Given the description of an element on the screen output the (x, y) to click on. 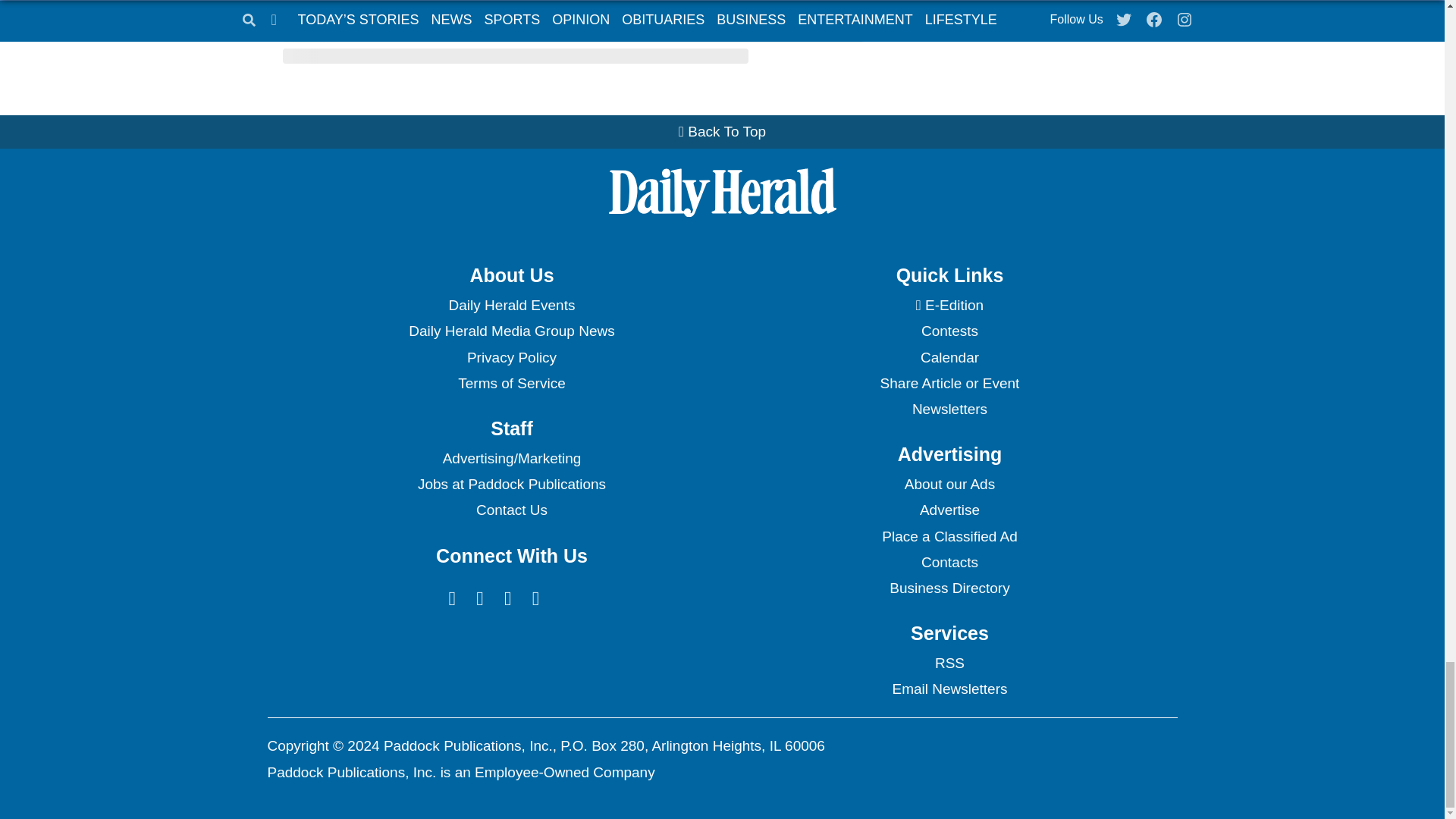
Daily Herald Media Group News (511, 330)
Daily Herald Digital Newspaper (949, 305)
Privacy Policy (511, 357)
Jobs at Paddock Publications (511, 484)
Contact Us (511, 510)
Terms of Service (511, 383)
Daily Herald Events (511, 305)
